Given the description of an element on the screen output the (x, y) to click on. 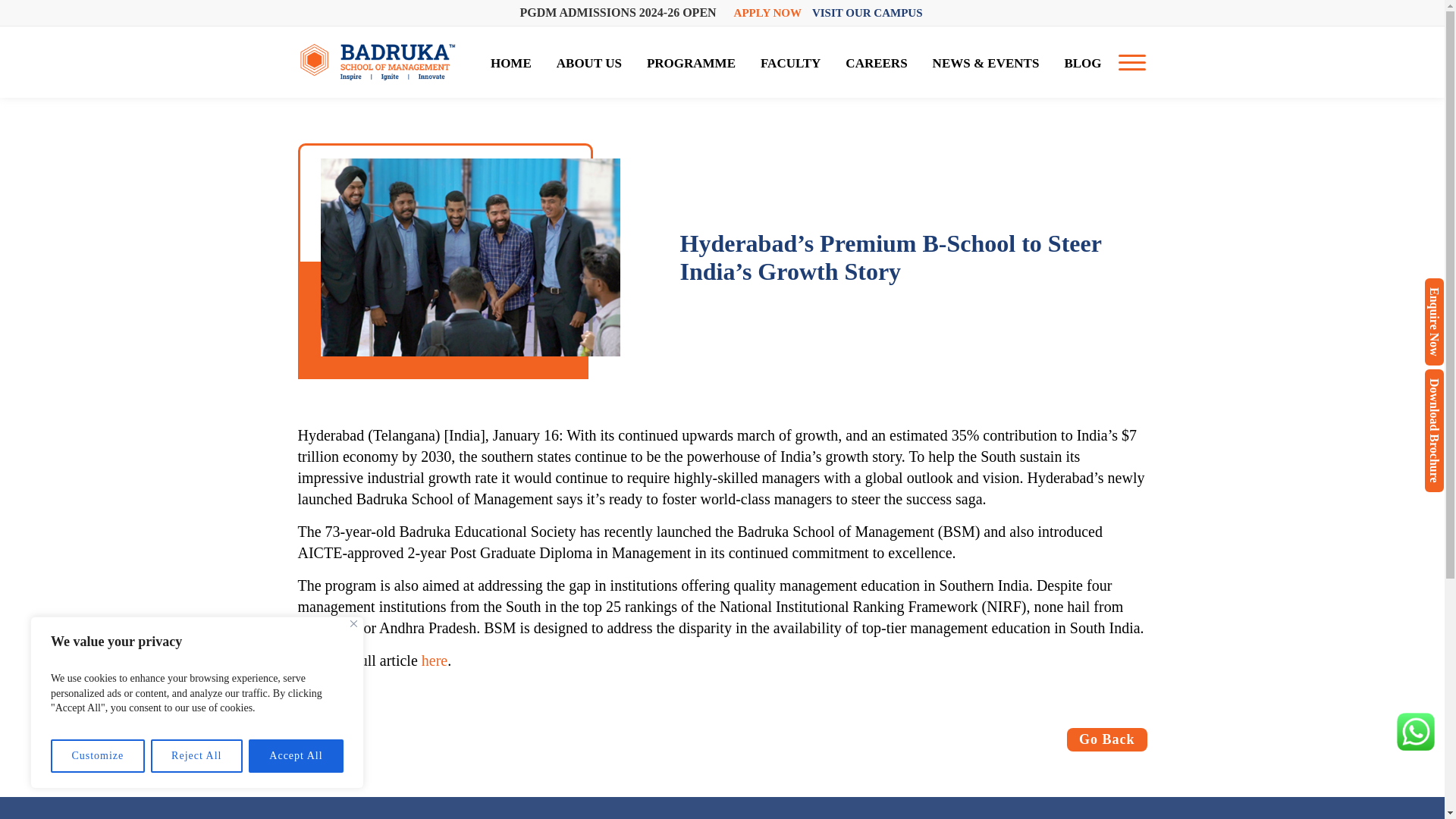
Accept All (295, 756)
Whatsapp (1415, 731)
Reject All (197, 756)
Customize (97, 756)
